Given the description of an element on the screen output the (x, y) to click on. 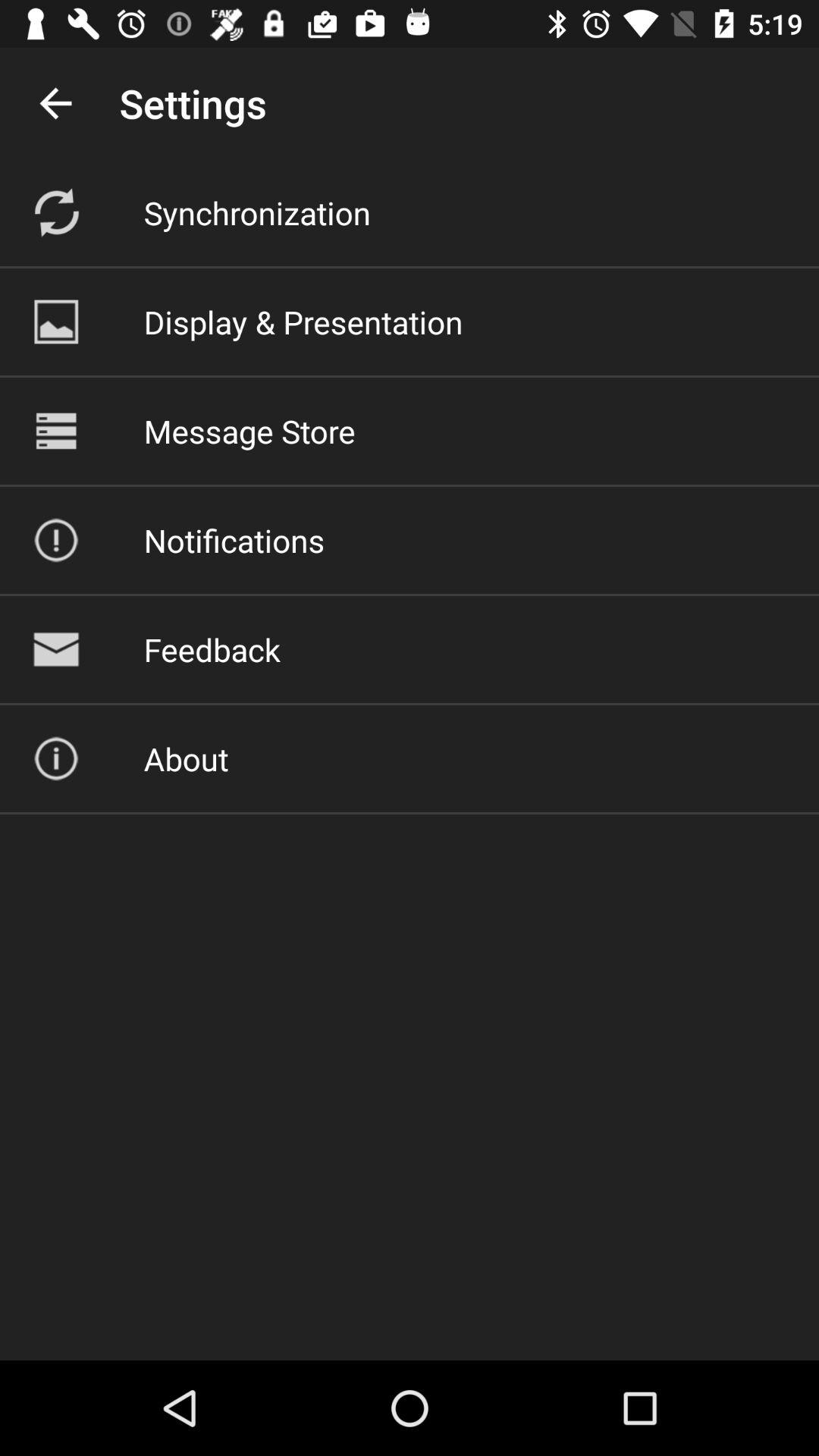
swipe to message store item (249, 430)
